Given the description of an element on the screen output the (x, y) to click on. 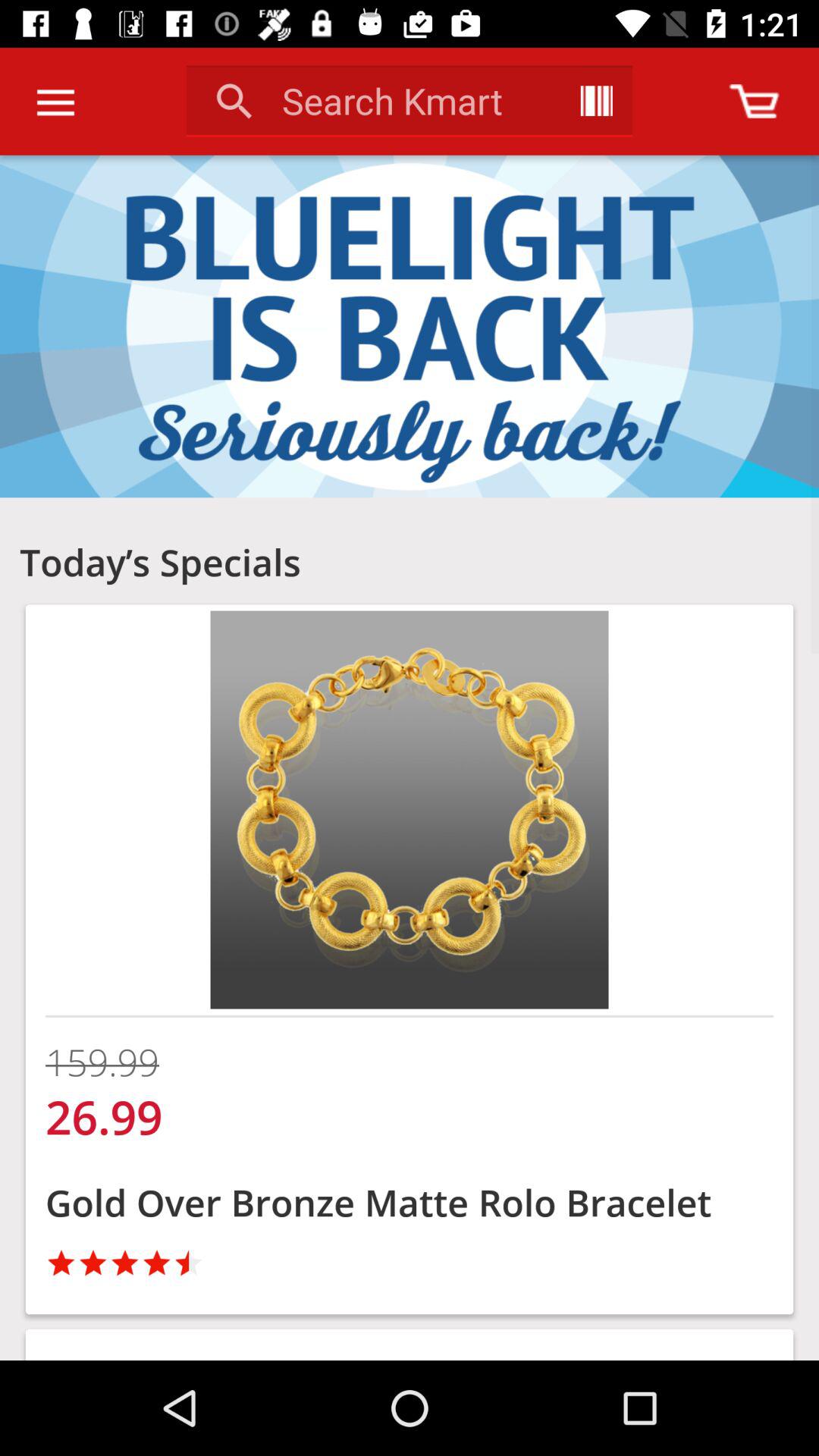
view cart option (754, 101)
